Given the description of an element on the screen output the (x, y) to click on. 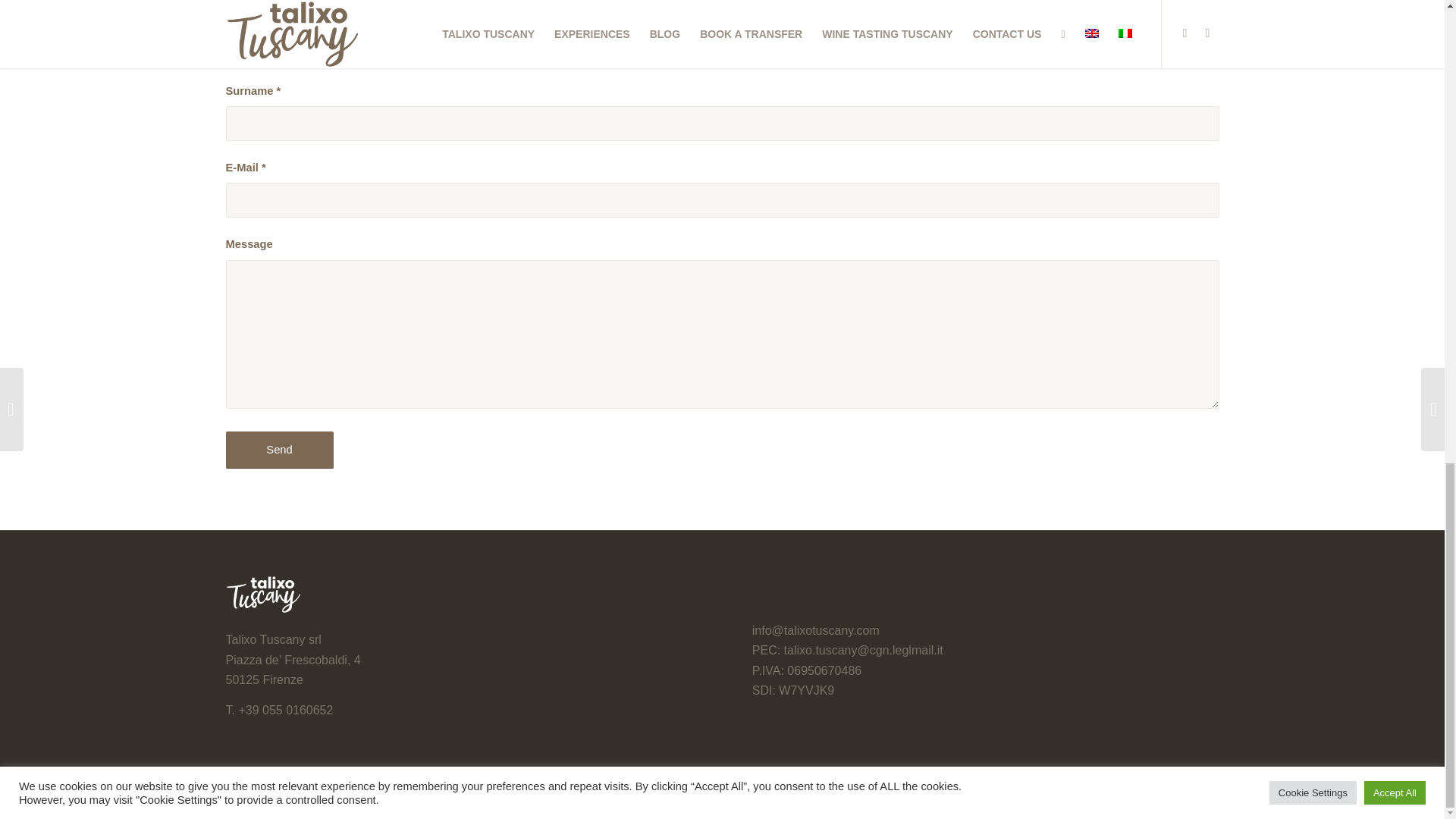
Legal notice (959, 795)
Privacy Policy (895, 795)
055 0160652 (297, 709)
It is important to know (1177, 795)
For your guarantees and benefits (1059, 795)
Send (279, 449)
Send (279, 449)
